Given the description of an element on the screen output the (x, y) to click on. 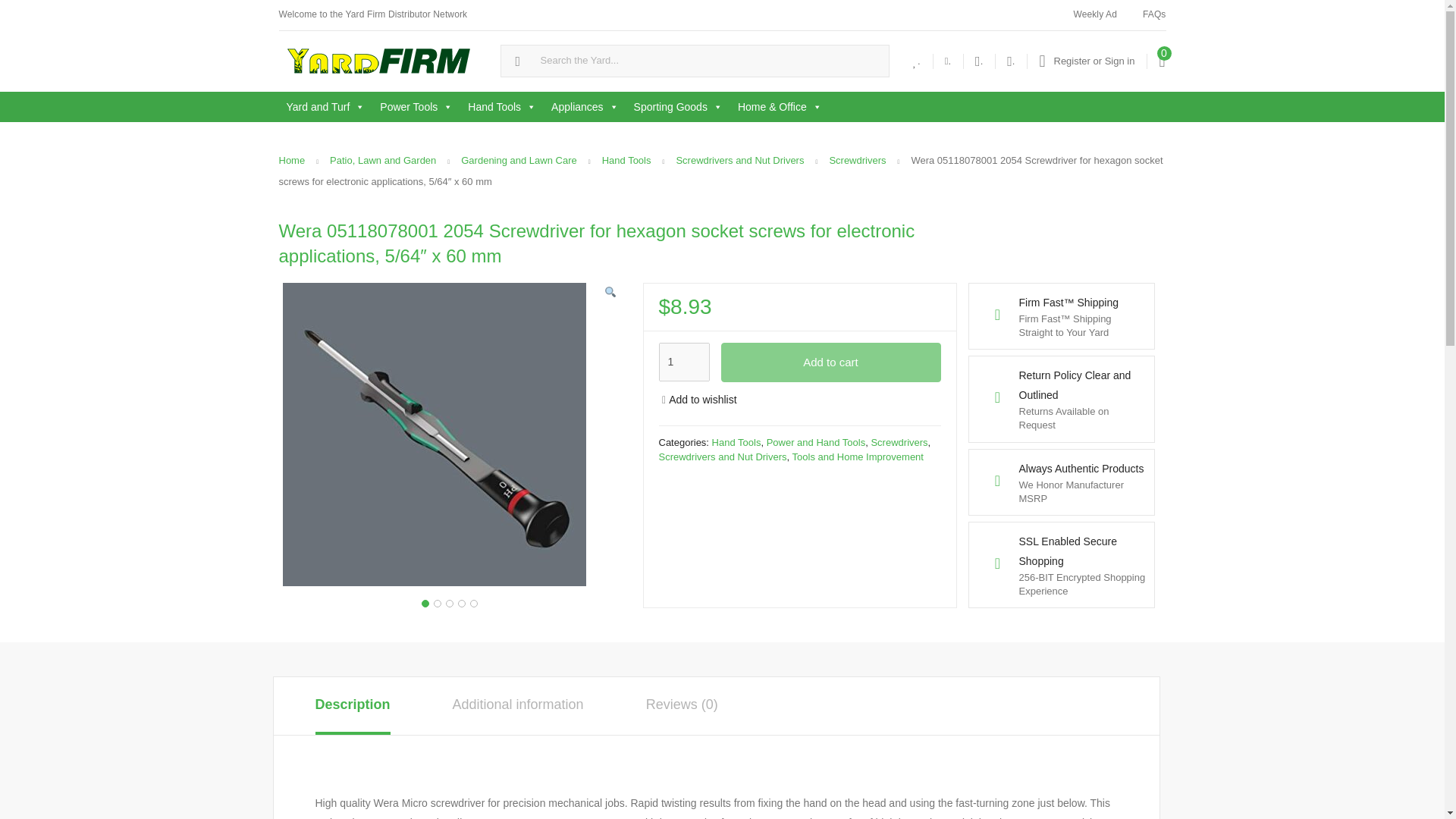
Search (17, 12)
Register or Sign in (1086, 61)
Weekly Ad (1094, 15)
FAQs (1154, 15)
Yard and Turf (325, 106)
Welcome to the Yard Firm Distributor Network (372, 15)
Wera-Kraftform-Micro-Set12-Pc-Sb-1-with-Pouch-5073675001-0-1 (433, 434)
1 (683, 362)
